Given the description of an element on the screen output the (x, y) to click on. 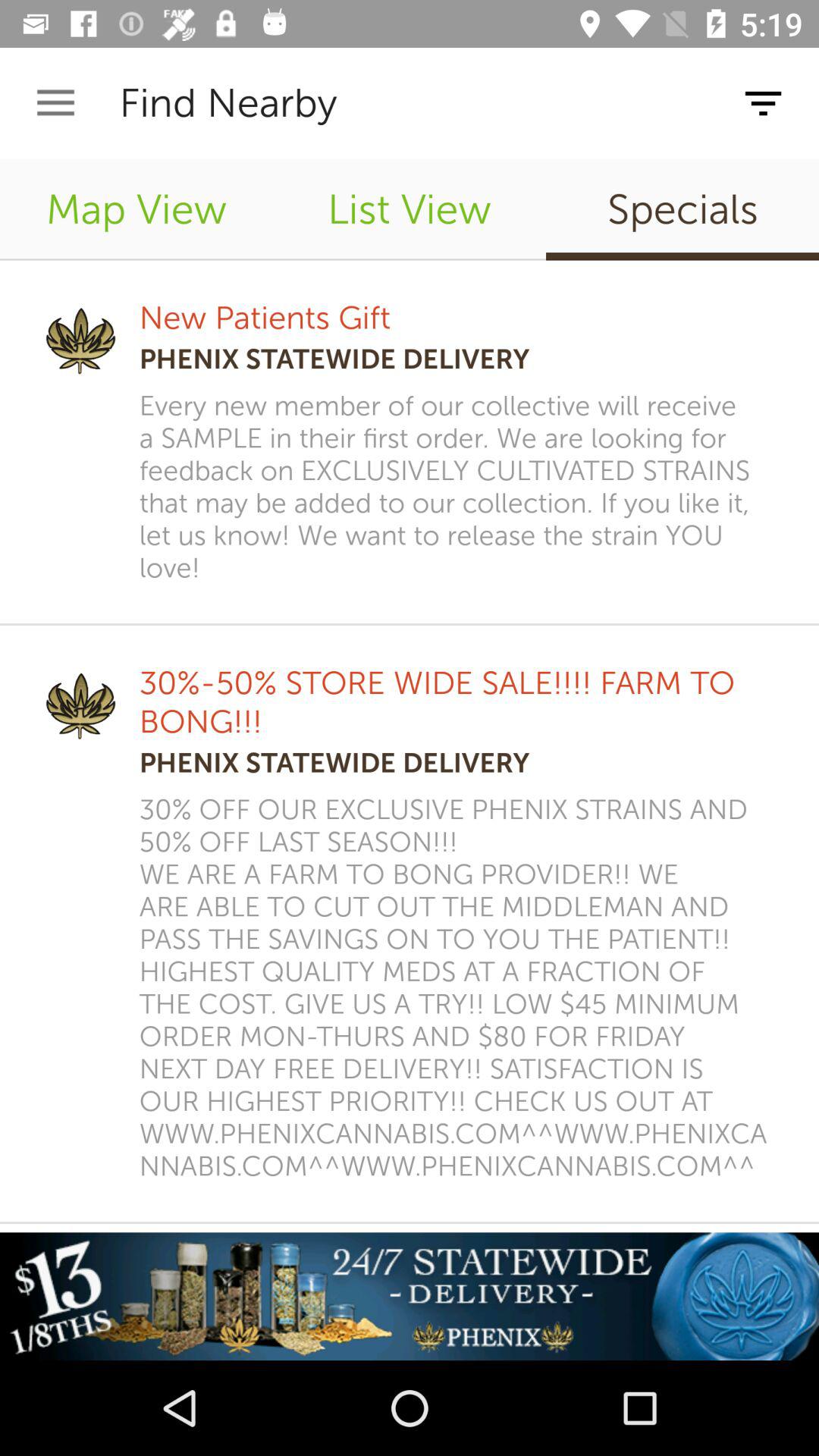
select icon above the every new member (682, 209)
